Given the description of an element on the screen output the (x, y) to click on. 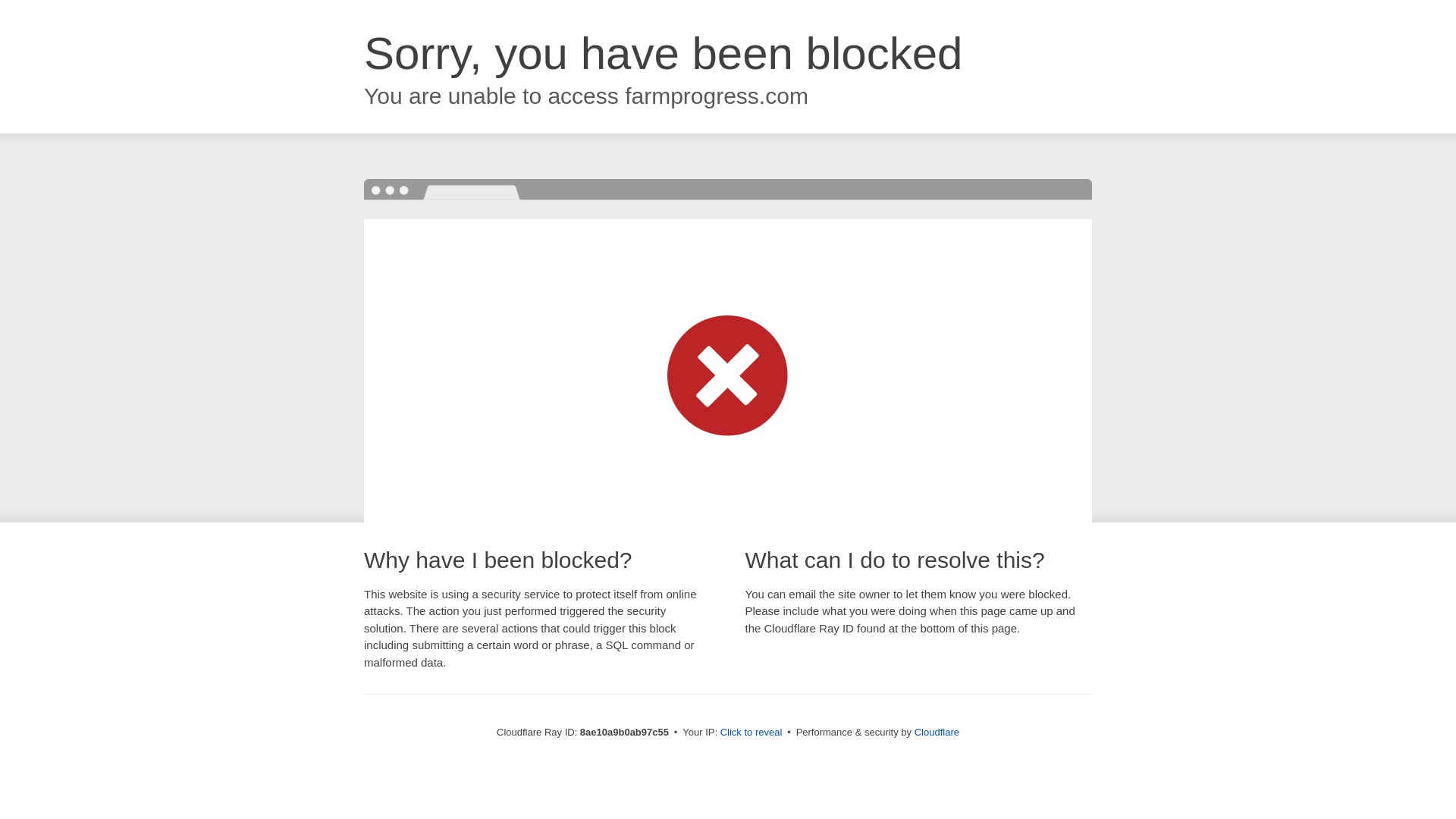
Click to reveal (751, 732)
Cloudflare (936, 731)
